Given the description of an element on the screen output the (x, y) to click on. 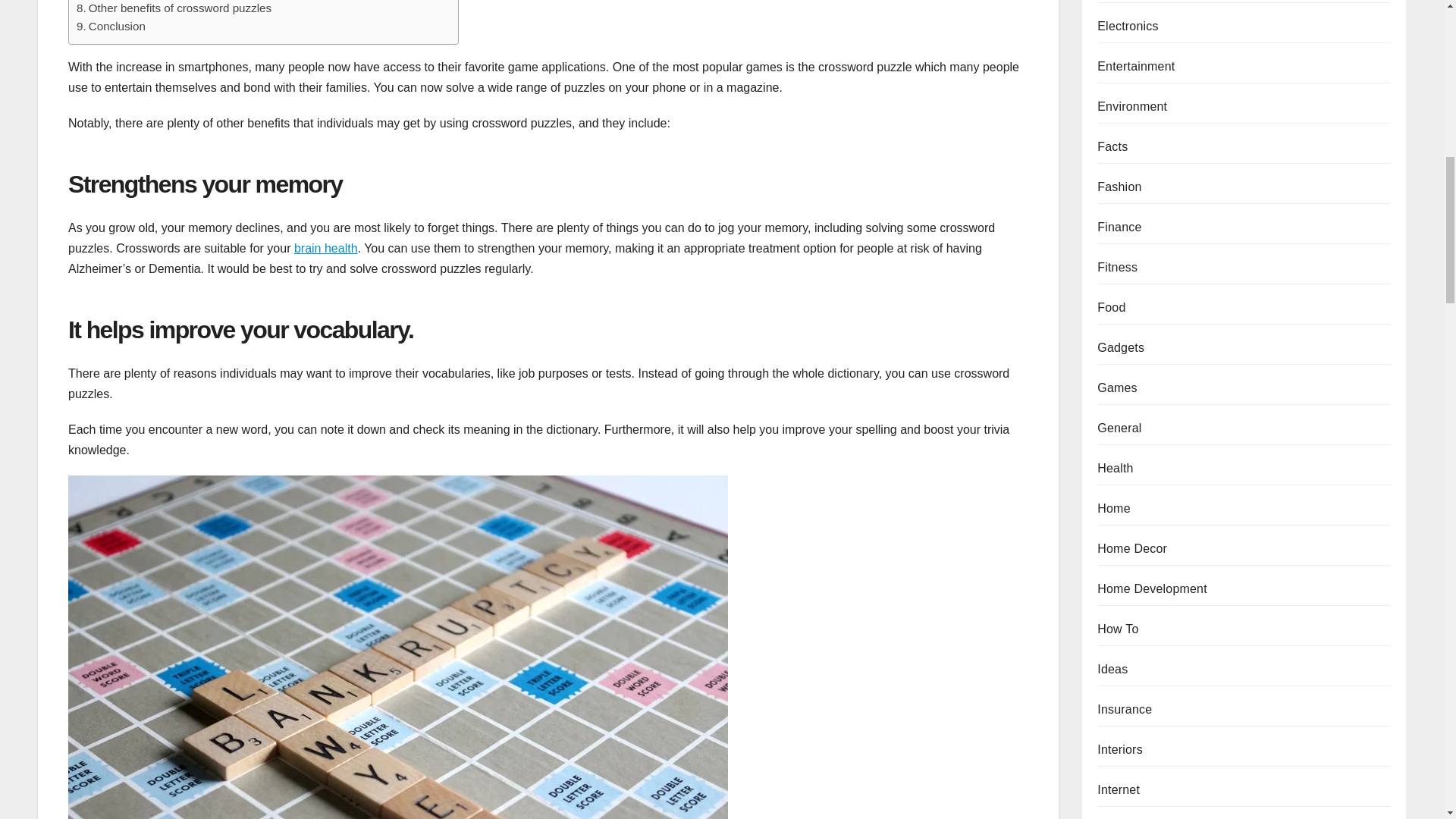
Conclusion    (116, 26)
Other benefits of crossword puzzles    (179, 8)
brain health (326, 247)
